Given the description of an element on the screen output the (x, y) to click on. 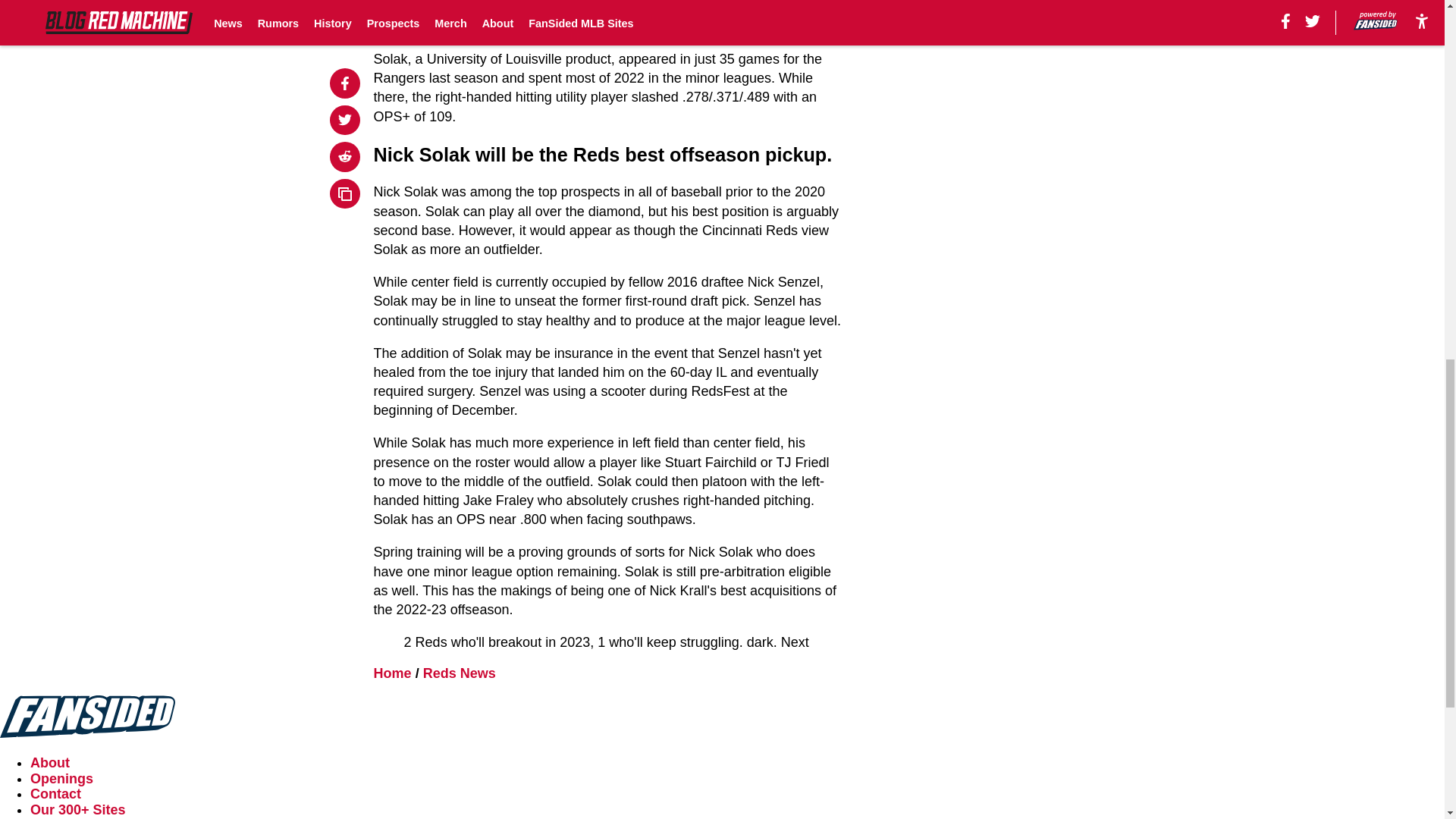
About (49, 762)
Contact (55, 793)
Reds News (459, 672)
Openings (61, 778)
Home (393, 672)
